Given the description of an element on the screen output the (x, y) to click on. 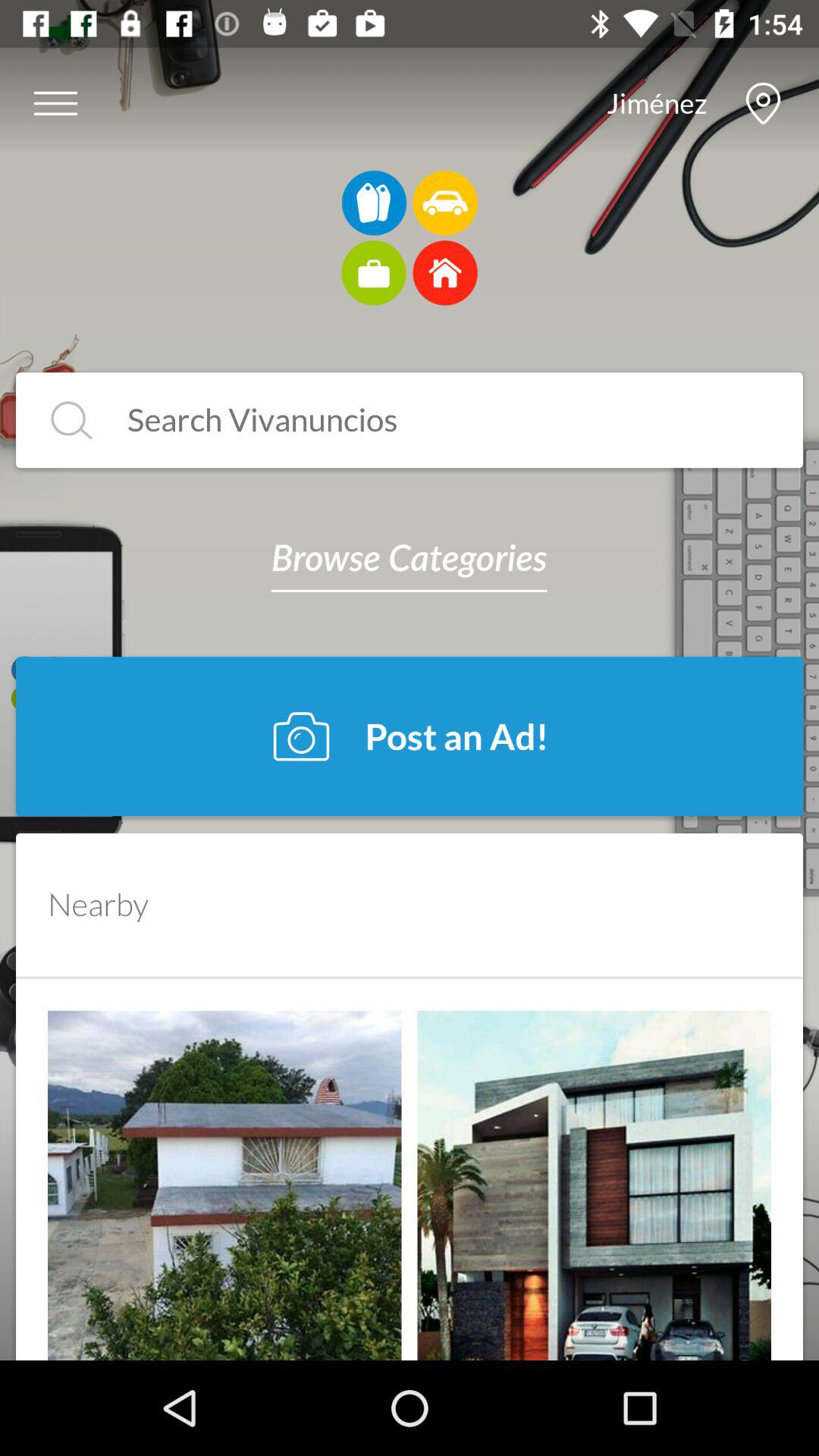
serch button (71, 420)
